Given the description of an element on the screen output the (x, y) to click on. 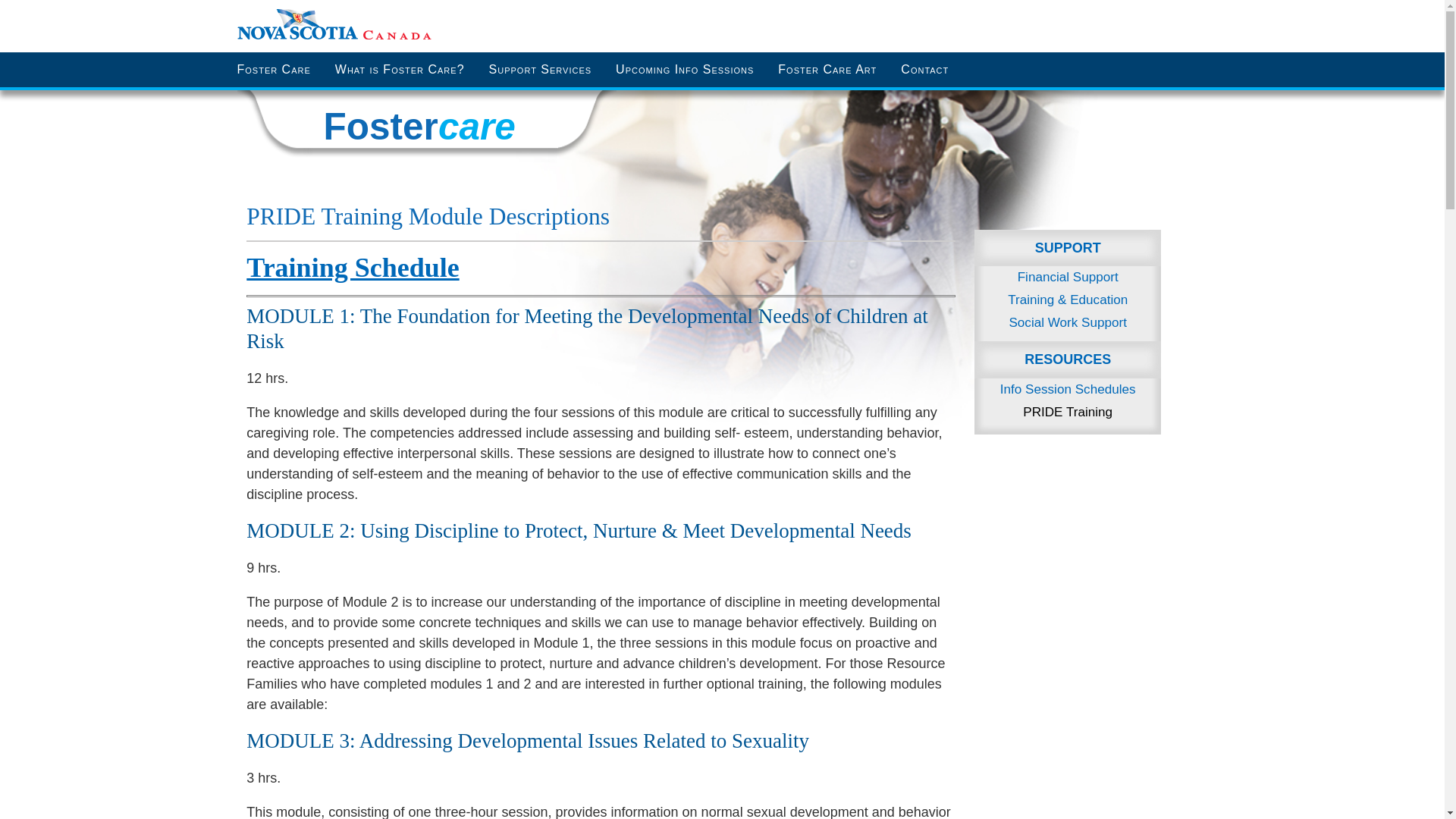
SUPPORT (1067, 248)
Upcoming Info Sessions (684, 69)
Financial Support (1067, 277)
Info Session Schedules (1067, 389)
What is Foster Care? (400, 69)
RESOURCES (1067, 359)
Training Schedule (352, 267)
Social Work Support (1067, 323)
Contact (924, 69)
Support Services (540, 69)
